Given the description of an element on the screen output the (x, y) to click on. 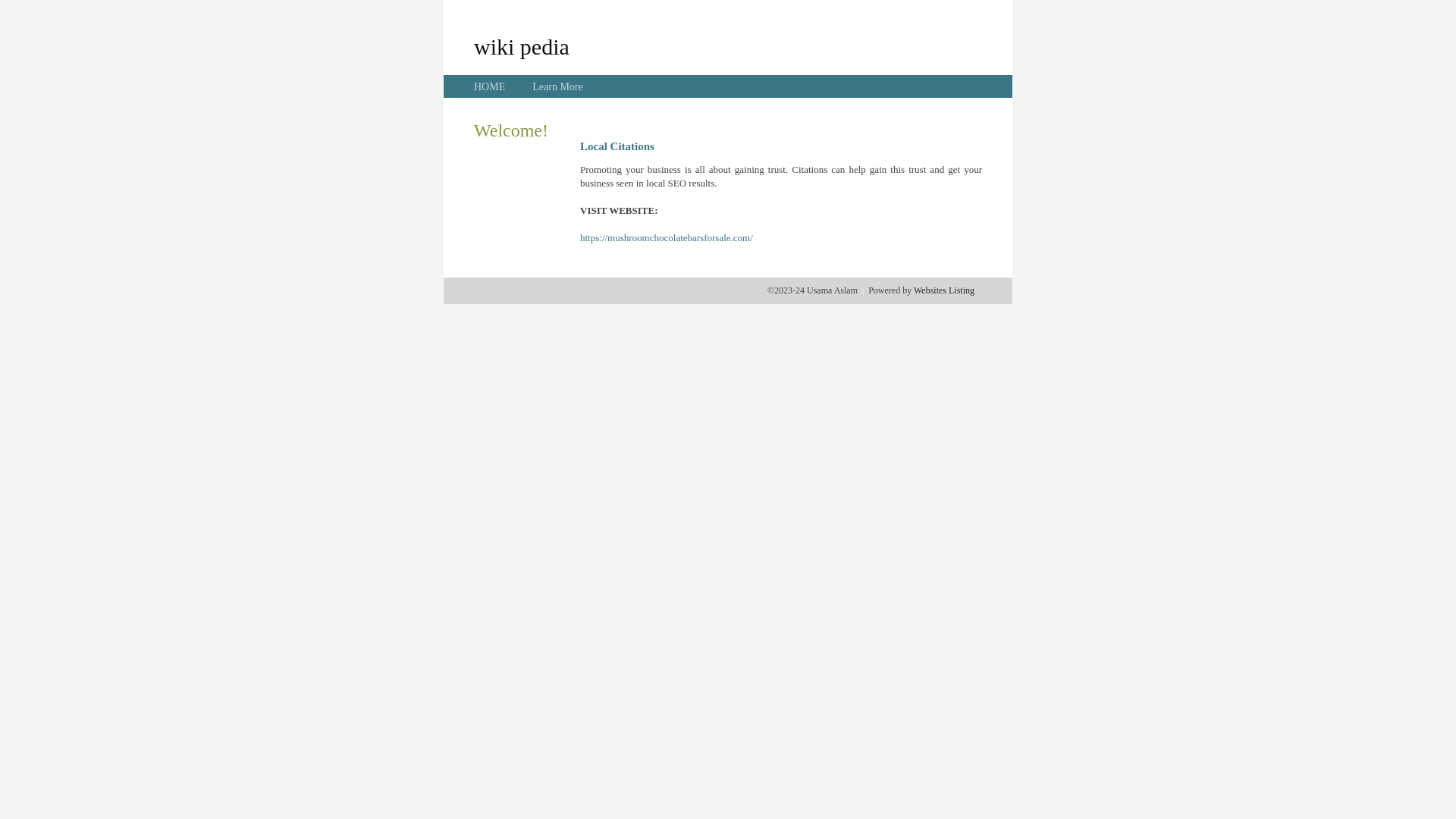
Learn More Element type: text (557, 86)
Websites Listing Element type: text (943, 290)
https://mushroomchocolatebarsforsale.com/ Element type: text (666, 237)
HOME Element type: text (489, 86)
wiki pedia Element type: text (521, 46)
